Given the description of an element on the screen output the (x, y) to click on. 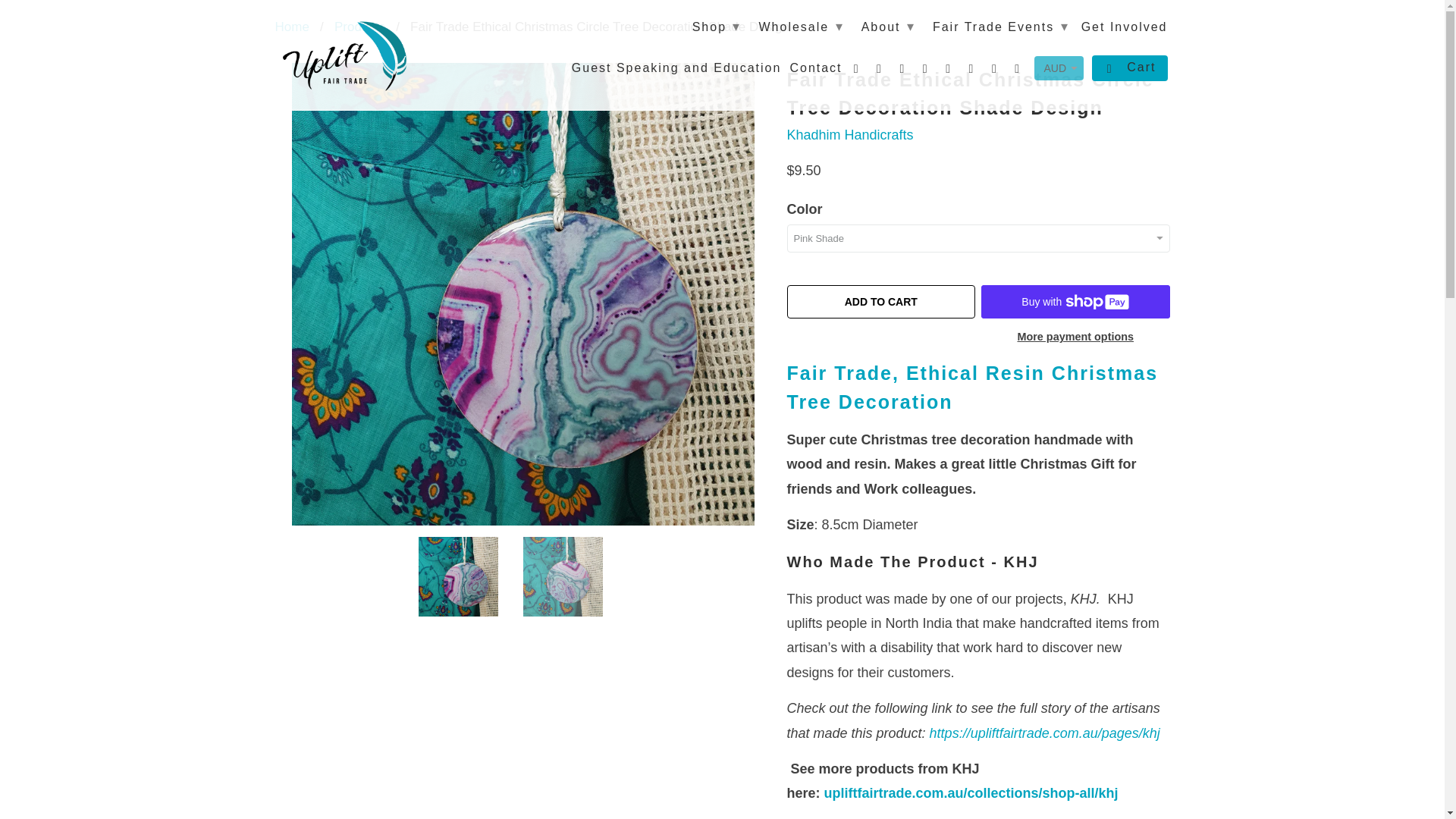
Products (359, 26)
Khadhim Handicrafts (850, 134)
Uplift Fair Trade (291, 26)
